Given the description of an element on the screen output the (x, y) to click on. 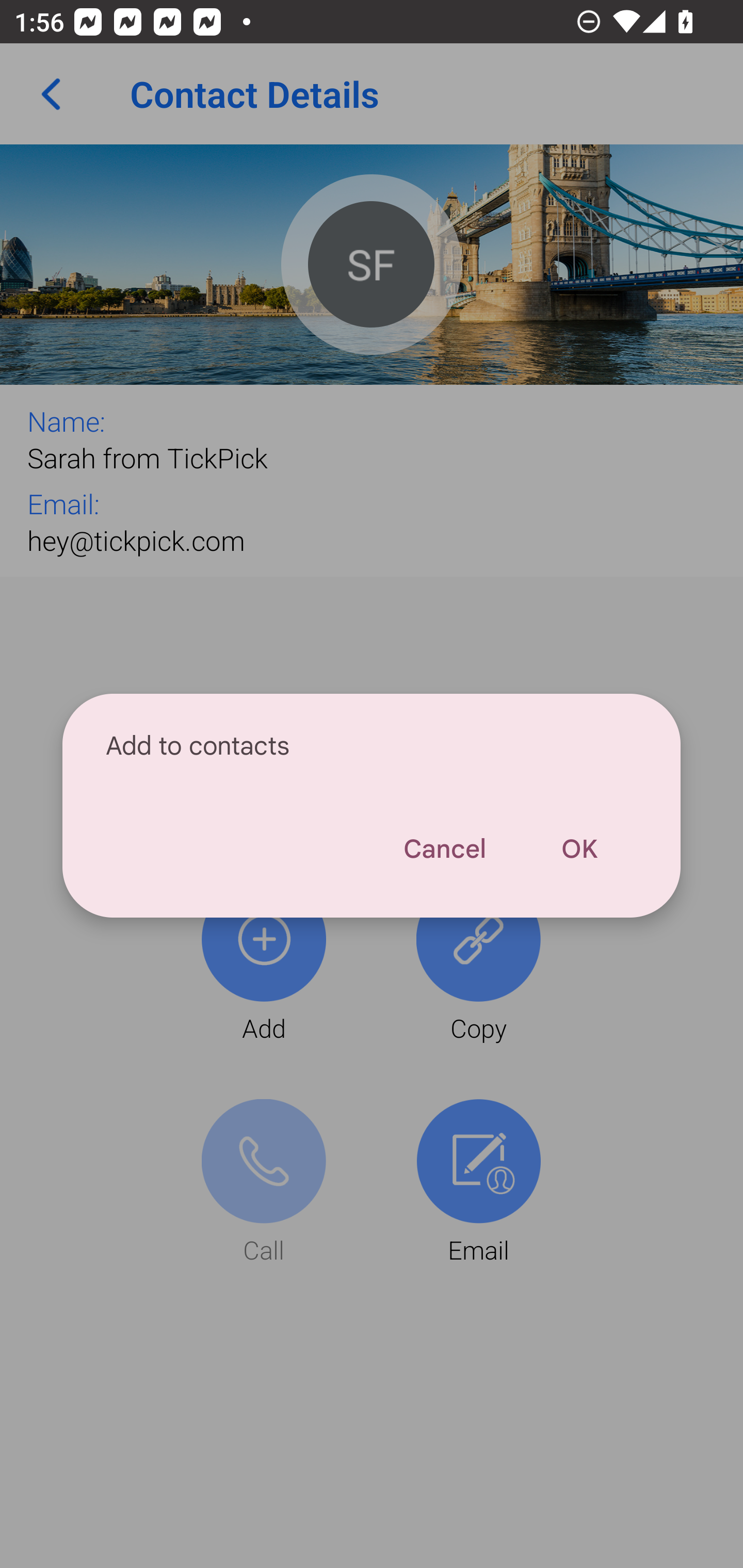
Cancel (444, 848)
OK (579, 848)
